Given the description of an element on the screen output the (x, y) to click on. 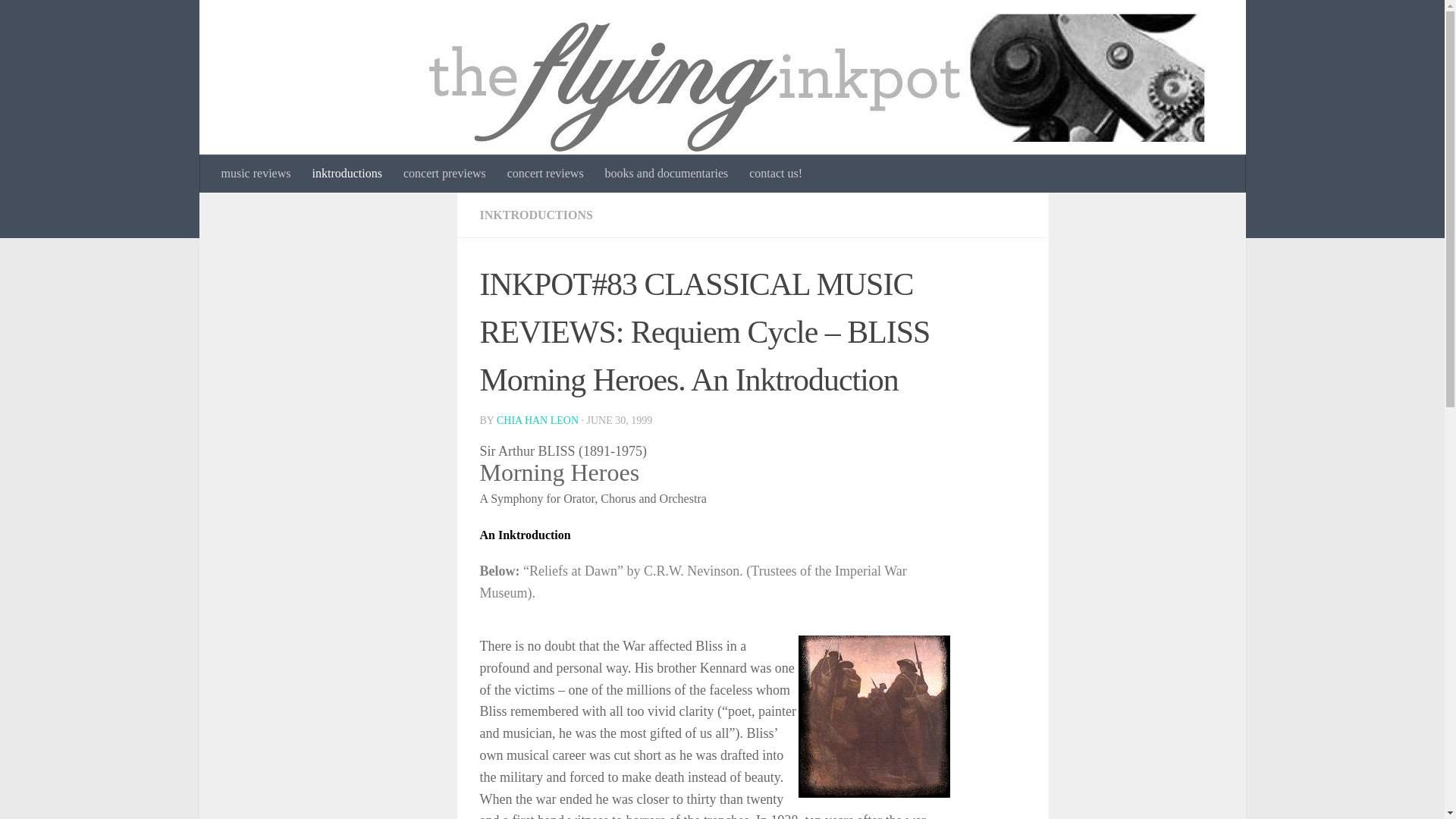
concert previews (444, 173)
concert reviews (545, 173)
contact us! (775, 173)
books and documentaries (666, 173)
inktroductions (346, 173)
CHIA HAN LEON (537, 419)
INKTRODUCTIONS (535, 214)
music reviews (256, 173)
Posts by Chia Han Leon (537, 419)
Skip to content (59, 20)
